Given the description of an element on the screen output the (x, y) to click on. 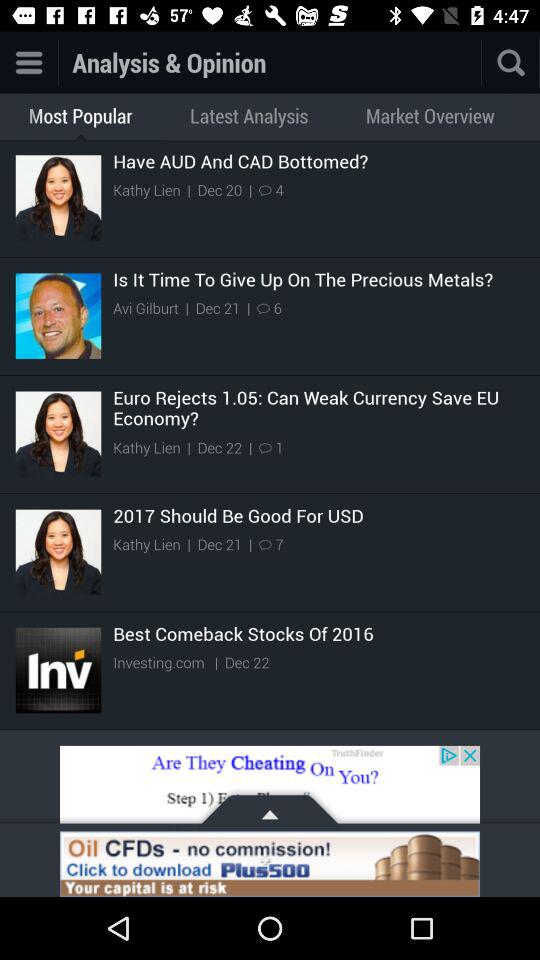
main menu button (28, 62)
